Given the description of an element on the screen output the (x, y) to click on. 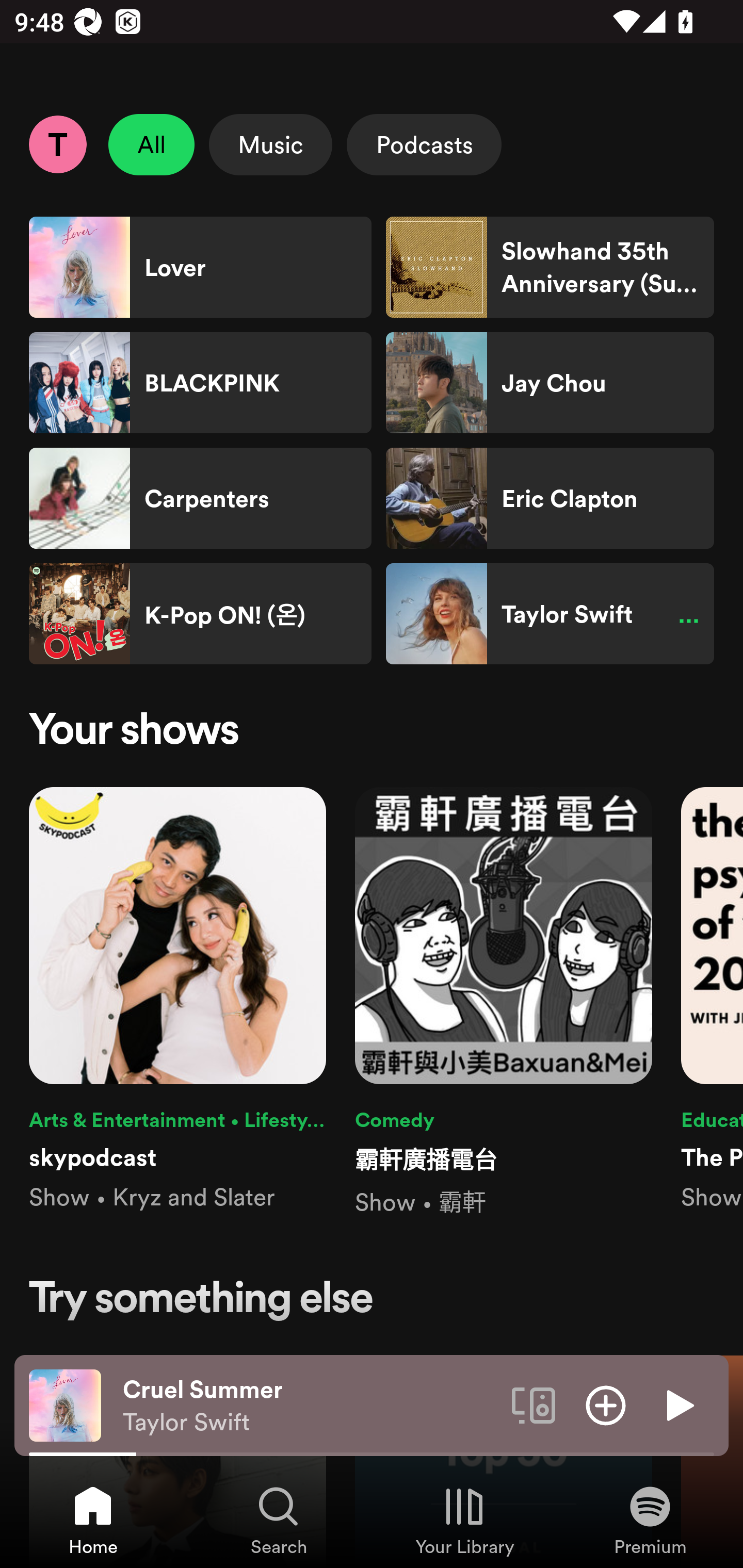
Profile (57, 144)
All Unselect All (151, 144)
Music Select Music (270, 144)
Podcasts Select Podcasts (423, 144)
Lover Shortcut Lover (199, 267)
BLACKPINK Shortcut BLACKPINK (199, 382)
Jay Chou Shortcut Jay Chou (549, 382)
Carpenters Shortcut Carpenters (199, 498)
Eric Clapton Shortcut Eric Clapton (549, 498)
K-Pop ON! (온) Shortcut K-Pop ON! (온) (199, 613)
Taylor Swift Shortcut Taylor Swift Paused (549, 613)
Comedy 霸軒廣播電台 Show • 霸軒 (503, 1002)
Cruel Summer Taylor Swift (309, 1405)
The cover art of the currently playing track (64, 1404)
Connect to a device. Opens the devices menu (533, 1404)
Add item (605, 1404)
Play (677, 1404)
Home, Tab 1 of 4 Home Home (92, 1519)
Search, Tab 2 of 4 Search Search (278, 1519)
Your Library, Tab 3 of 4 Your Library Your Library (464, 1519)
Premium, Tab 4 of 4 Premium Premium (650, 1519)
